Given the description of an element on the screen output the (x, y) to click on. 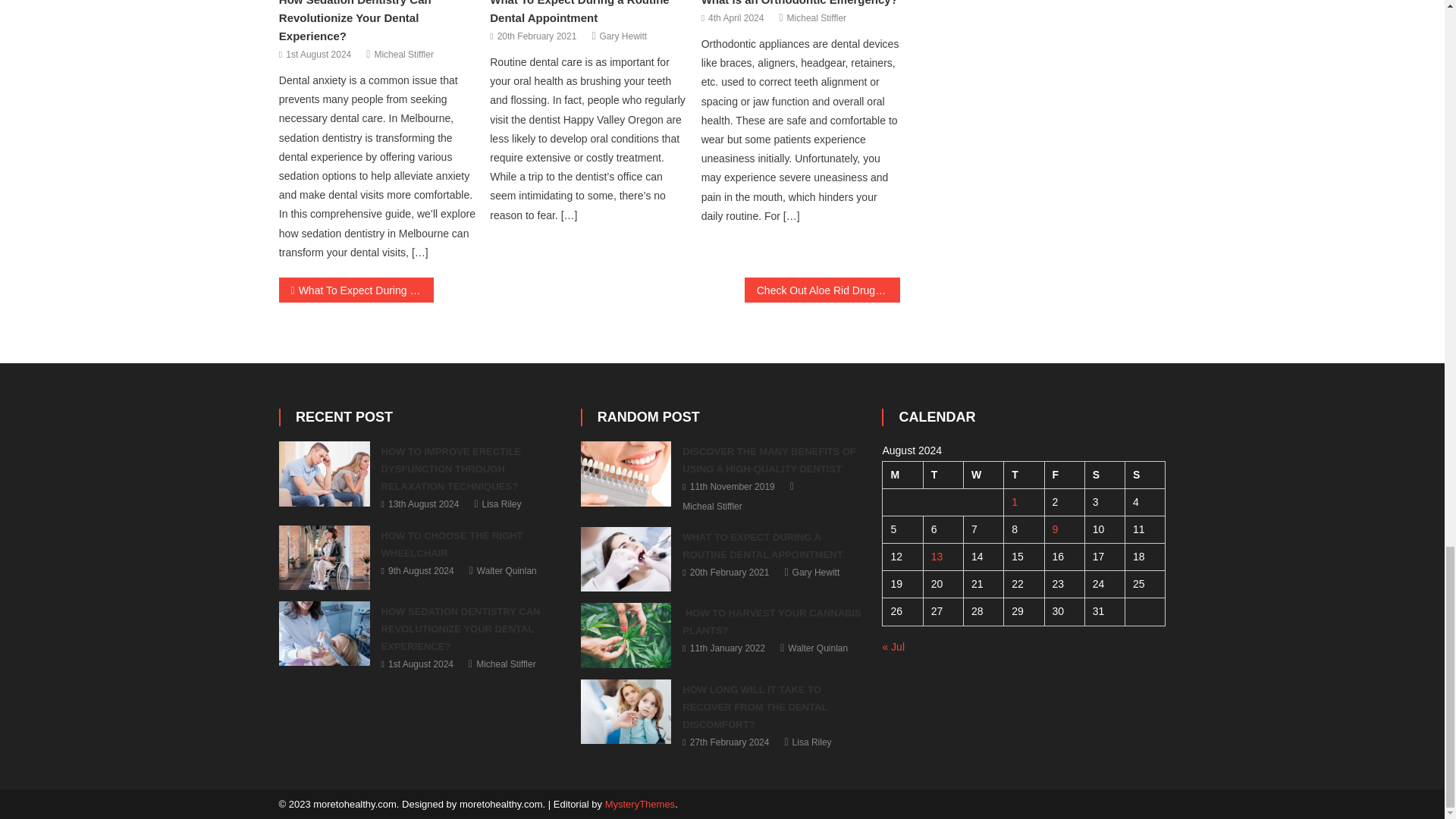
1st August 2024 (317, 54)
What To Expect During a Routine Dental Appointment (578, 12)
Monday (902, 474)
Discover the many benefits of using a high-quality dentist (625, 473)
Wednesday (982, 474)
20th February 2021 (536, 36)
What To Expect During a Routine Dental Appointment (625, 559)
